Given the description of an element on the screen output the (x, y) to click on. 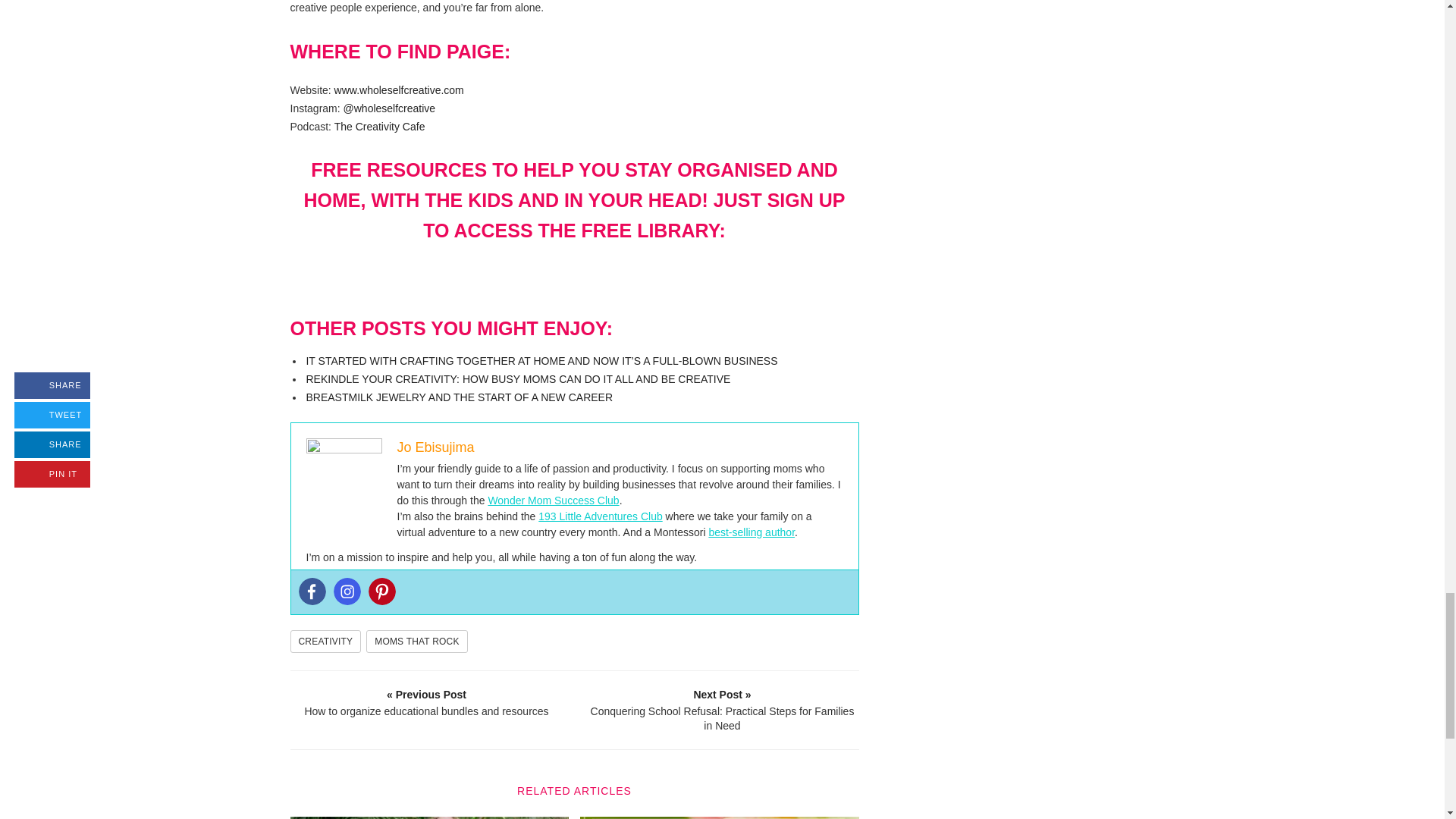
Facebook (312, 591)
www.wholeselfcreative.com (399, 90)
BREASTMILK JEWELRY AND THE START OF A NEW CAREER (458, 397)
How to organize educational bundles and resources (427, 702)
Pinterest (382, 591)
best-selling author (750, 532)
CREATIVITY (325, 640)
moms that rock Tag (416, 640)
Jo Ebisujima (435, 447)
